Given the description of an element on the screen output the (x, y) to click on. 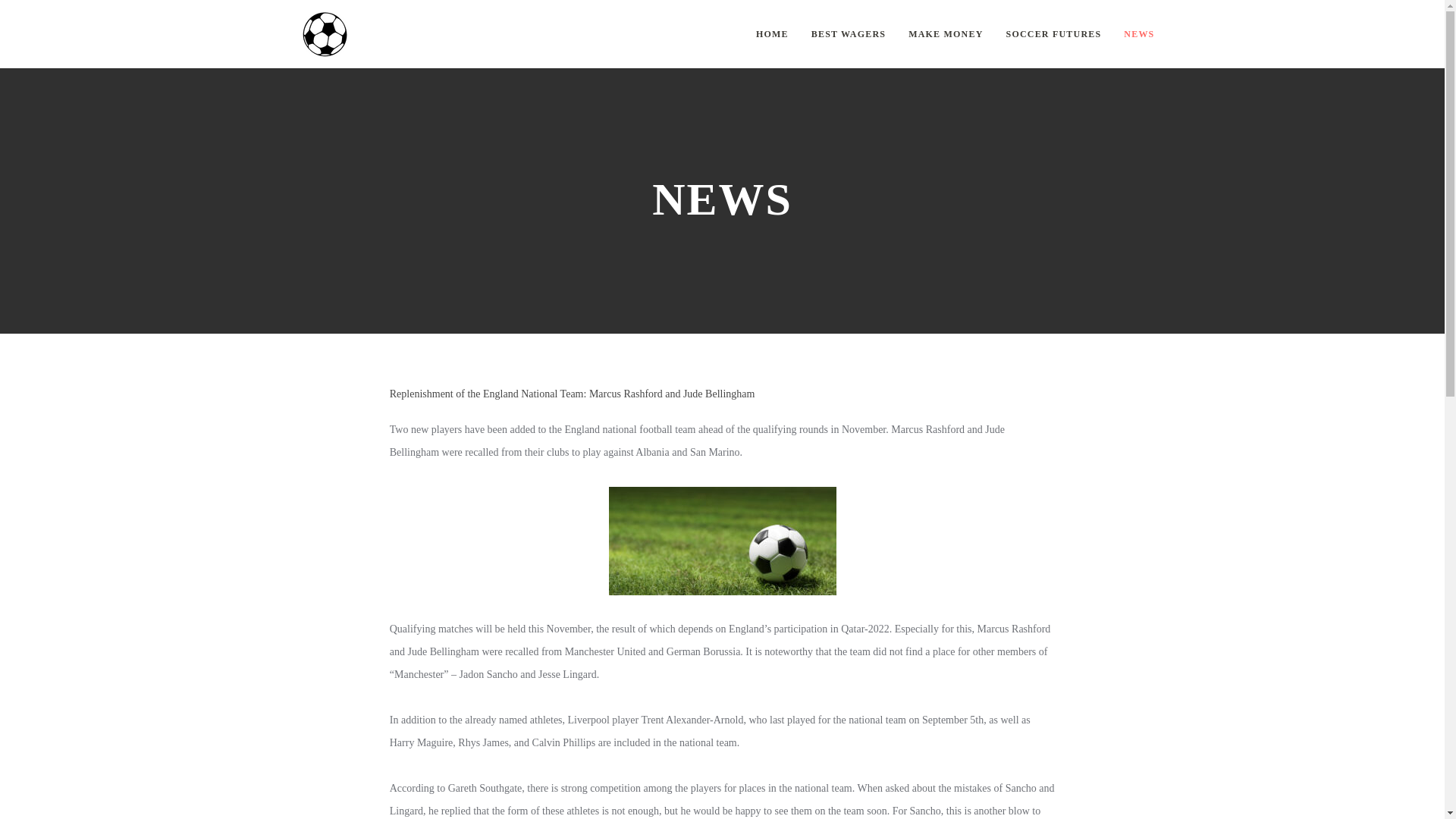
MAKE MONEY (945, 33)
SOCCER FUTURES (1054, 33)
BEST WAGERS (847, 33)
Beginner's Guide To Soccer Betting (324, 33)
